Given the description of an element on the screen output the (x, y) to click on. 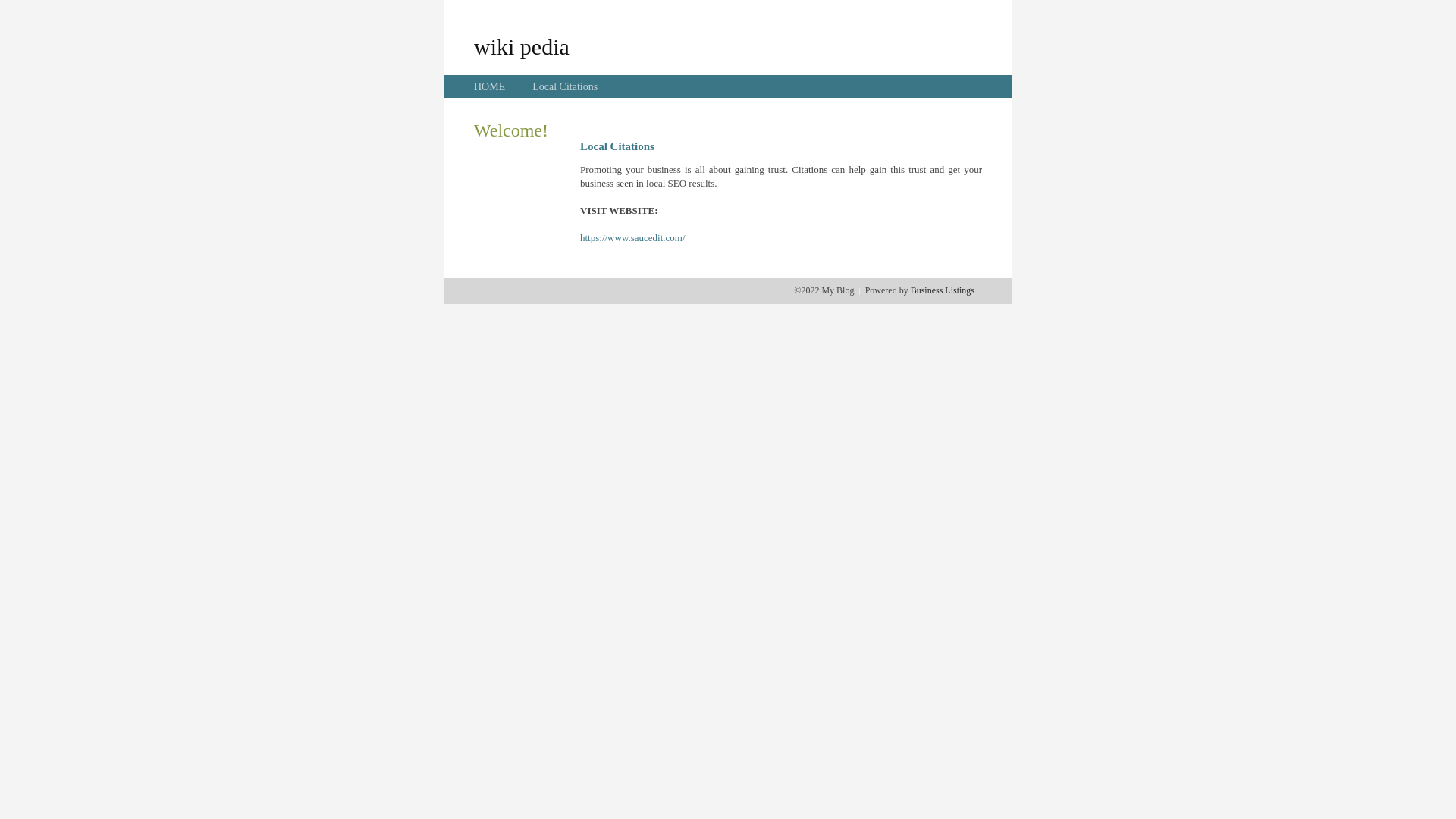
Business Listings Element type: text (942, 290)
Local Citations Element type: text (564, 86)
wiki pedia Element type: text (521, 46)
HOME Element type: text (489, 86)
https://www.saucedit.com/ Element type: text (632, 237)
